Given the description of an element on the screen output the (x, y) to click on. 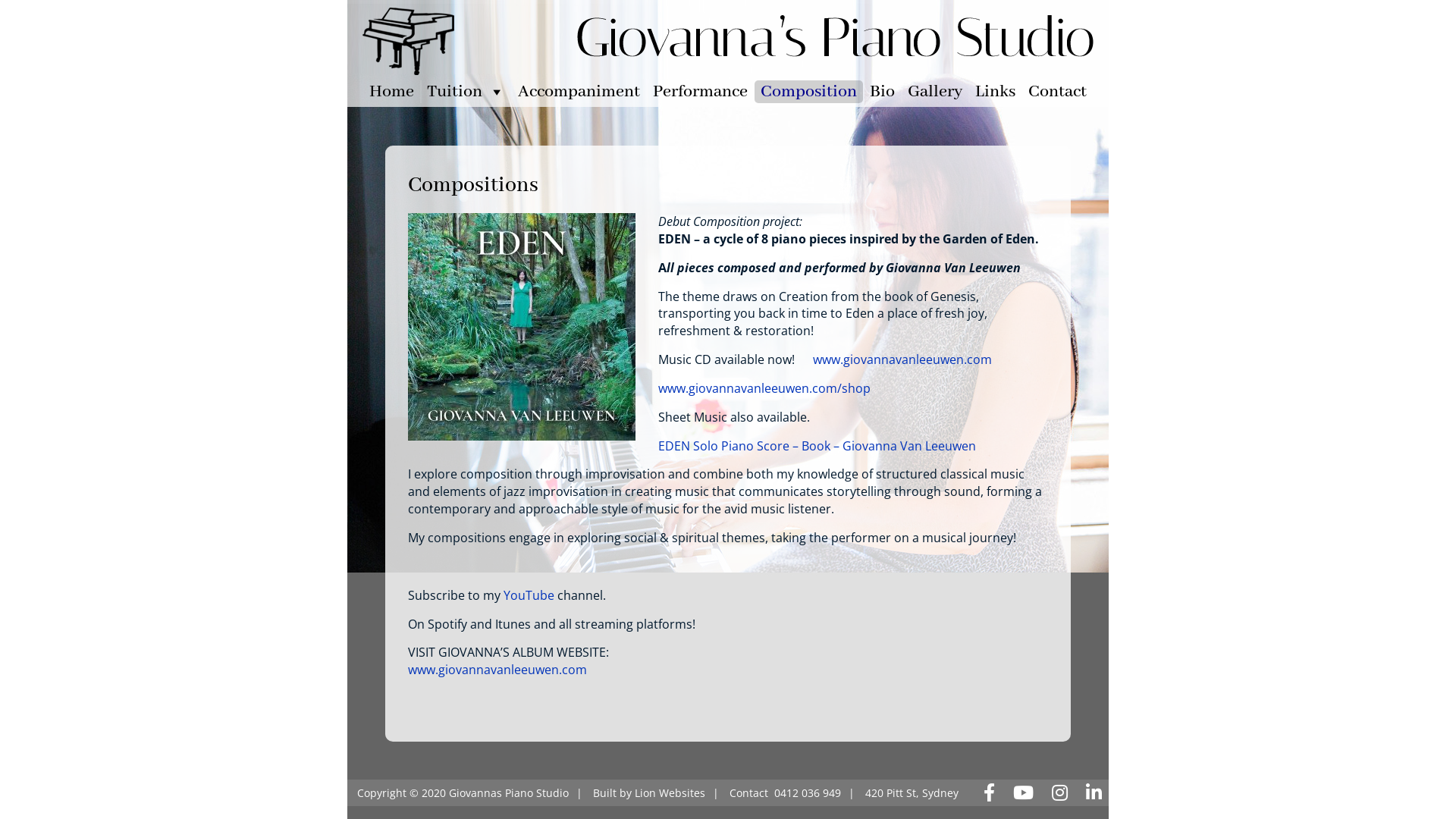
Tuition Element type: text (465, 91)
www.giovannavanleeuwen.com Element type: text (496, 669)
Composition Element type: text (808, 91)
www.giovannavanleeuwen.com/shop Element type: text (764, 387)
Lion Websites Element type: text (669, 792)
Gallery Element type: text (934, 91)
Home Element type: text (391, 91)
0412 036 949 Element type: text (807, 792)
Contact Element type: text (1057, 91)
Links Element type: text (995, 91)
Bio Element type: text (881, 91)
Giovannas Piano Studio Element type: text (508, 792)
YouTube Element type: text (528, 594)
www.giovannavanleeuwen.com Element type: text (901, 359)
Contact Element type: text (748, 792)
Accompaniment Element type: text (578, 91)
Performance Element type: text (699, 91)
